Given the description of an element on the screen output the (x, y) to click on. 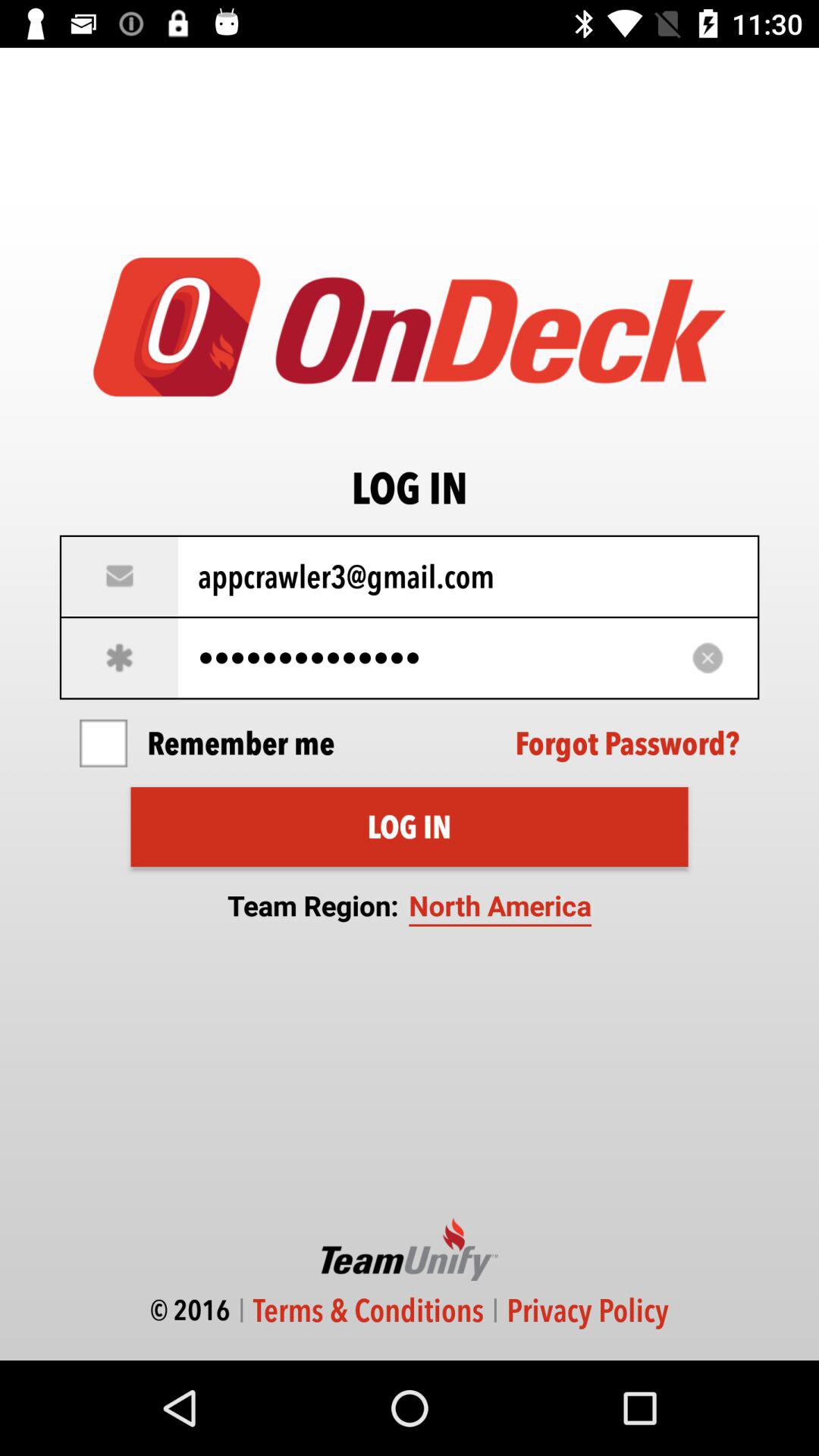
launch appcrawler3116 item (409, 657)
